Given the description of an element on the screen output the (x, y) to click on. 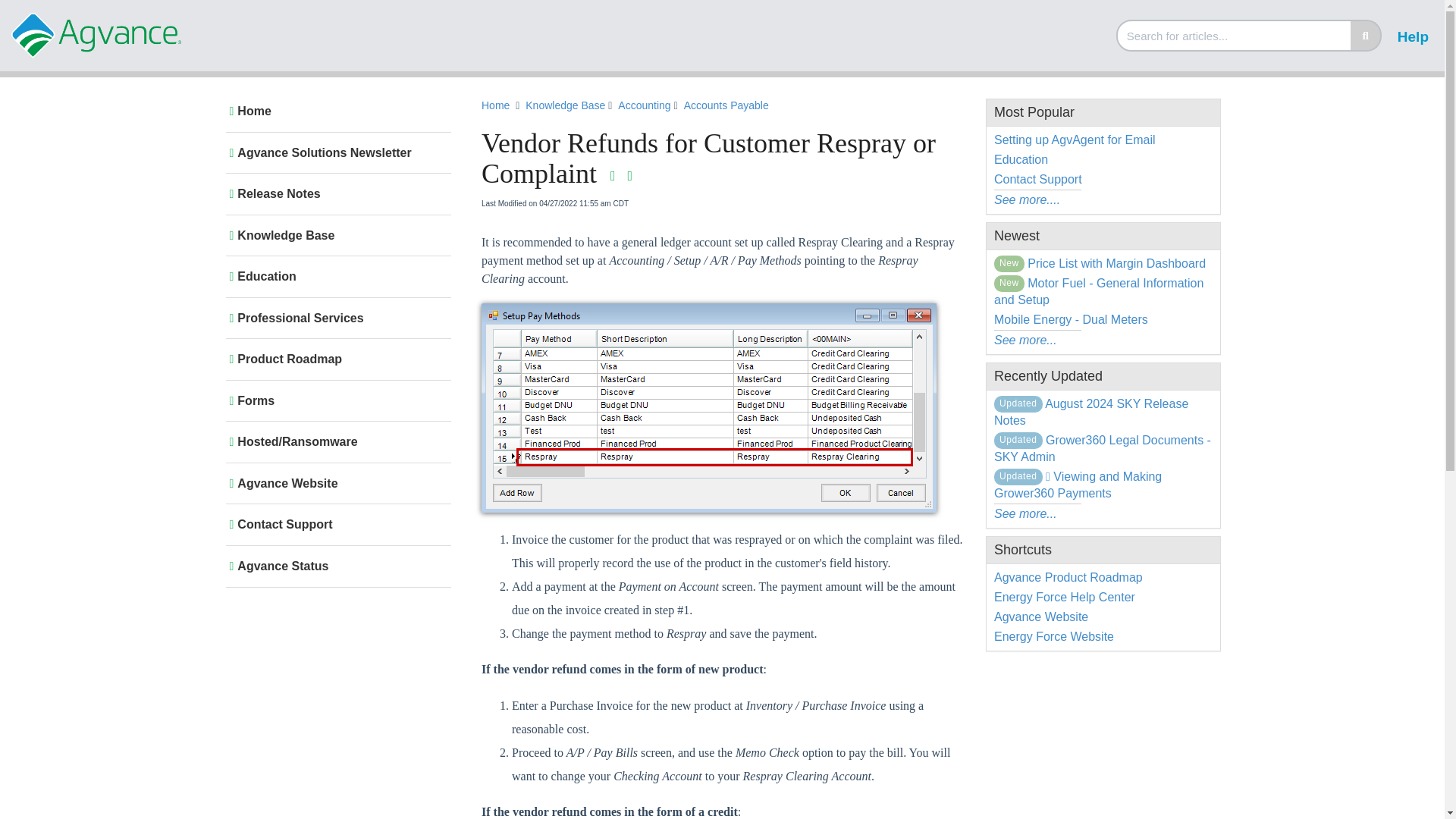
Accounting (644, 105)
Agvance Status (334, 566)
Release Notes (334, 193)
Knowledge Base (566, 105)
Accounts Payable (727, 105)
Agvance Solutions Newsletter (334, 153)
Product Roadmap (334, 359)
Download PDF (612, 175)
Education (334, 276)
Home (334, 111)
